Given the description of an element on the screen output the (x, y) to click on. 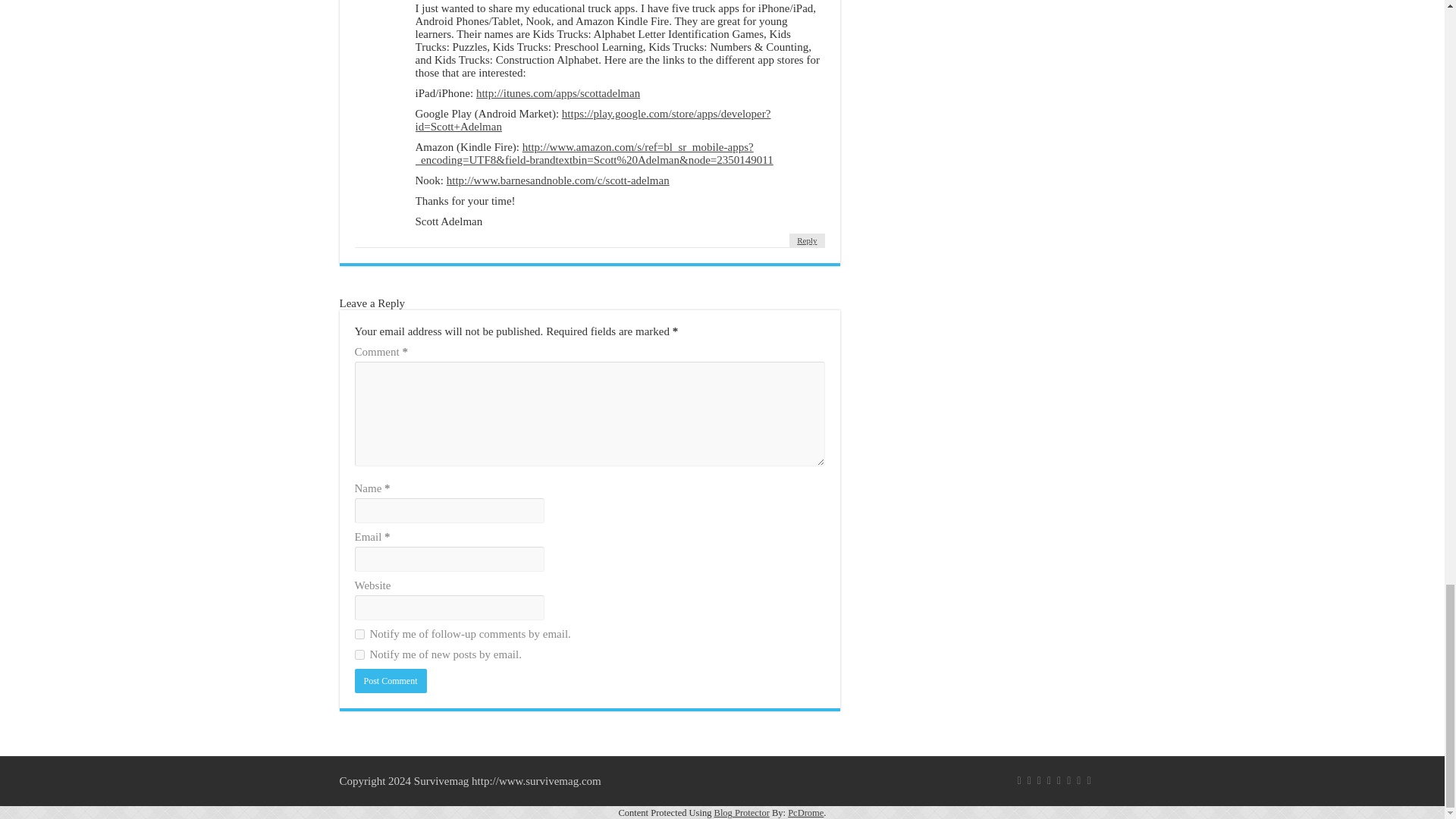
Post Comment (390, 680)
subscribe (360, 634)
subscribe (360, 655)
